Given the description of an element on the screen output the (x, y) to click on. 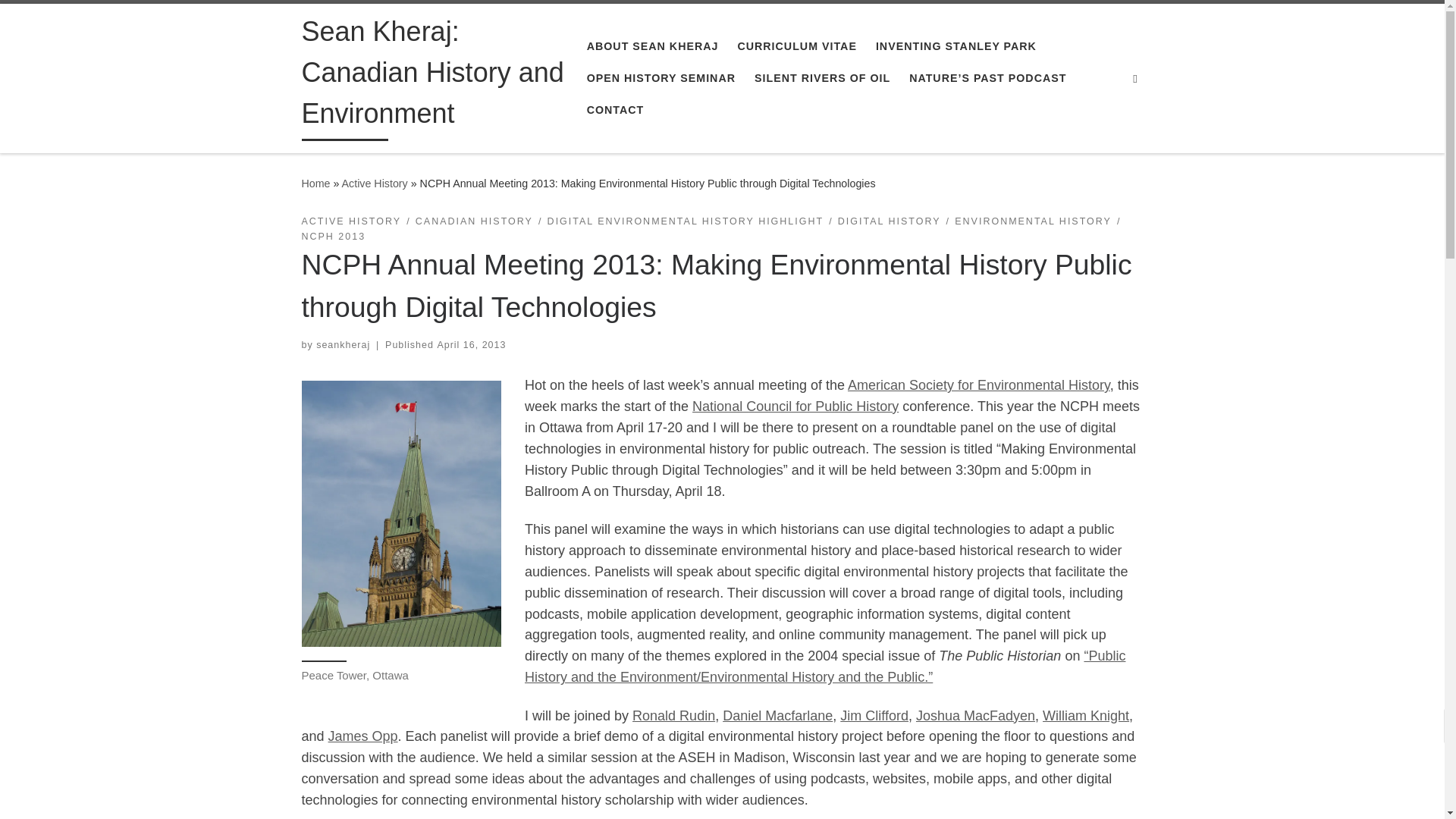
Skip to content (60, 20)
View all posts in NCPH 2013 (333, 237)
April 16, 2013 (470, 344)
DIGITAL ENVIRONMENTAL HISTORY HIGHLIGHT (685, 221)
OPEN HISTORY SEMINAR (659, 78)
Home (315, 183)
Sean Kheraj: Canadian History and Environment (432, 75)
INVENTING STANLEY PARK (956, 46)
View all posts in Active History (351, 221)
ACTIVE HISTORY (351, 221)
View all posts in Digital Environmental History Highlight (685, 221)
ABOUT SEAN KHERAJ (651, 46)
SILENT RIVERS OF OIL (822, 78)
CANADIAN HISTORY (473, 221)
NCPH 2013 (333, 237)
